Given the description of an element on the screen output the (x, y) to click on. 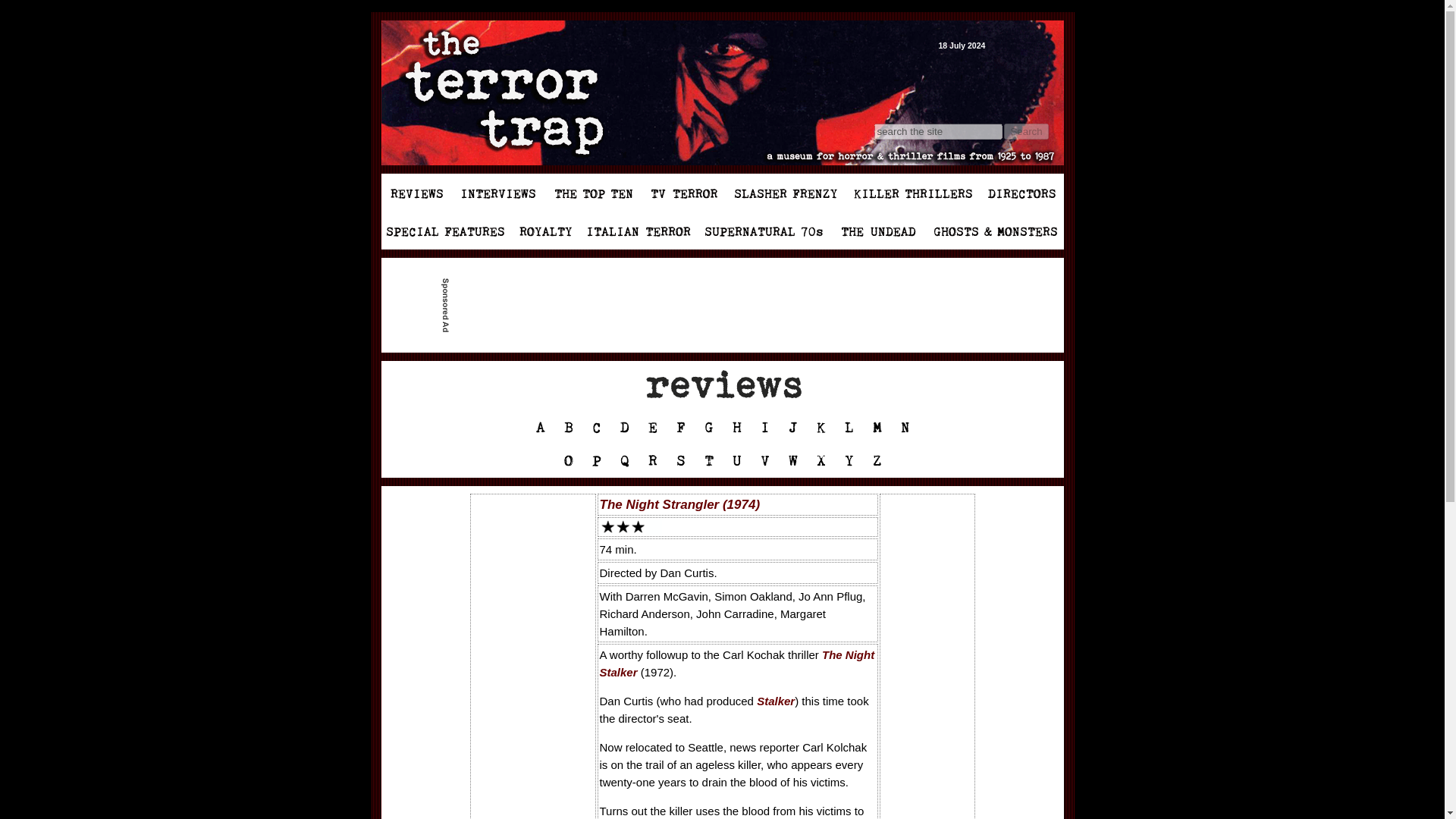
Search (1026, 131)
Search (1026, 131)
search the site (937, 131)
Advertisement (727, 305)
